Given the description of an element on the screen output the (x, y) to click on. 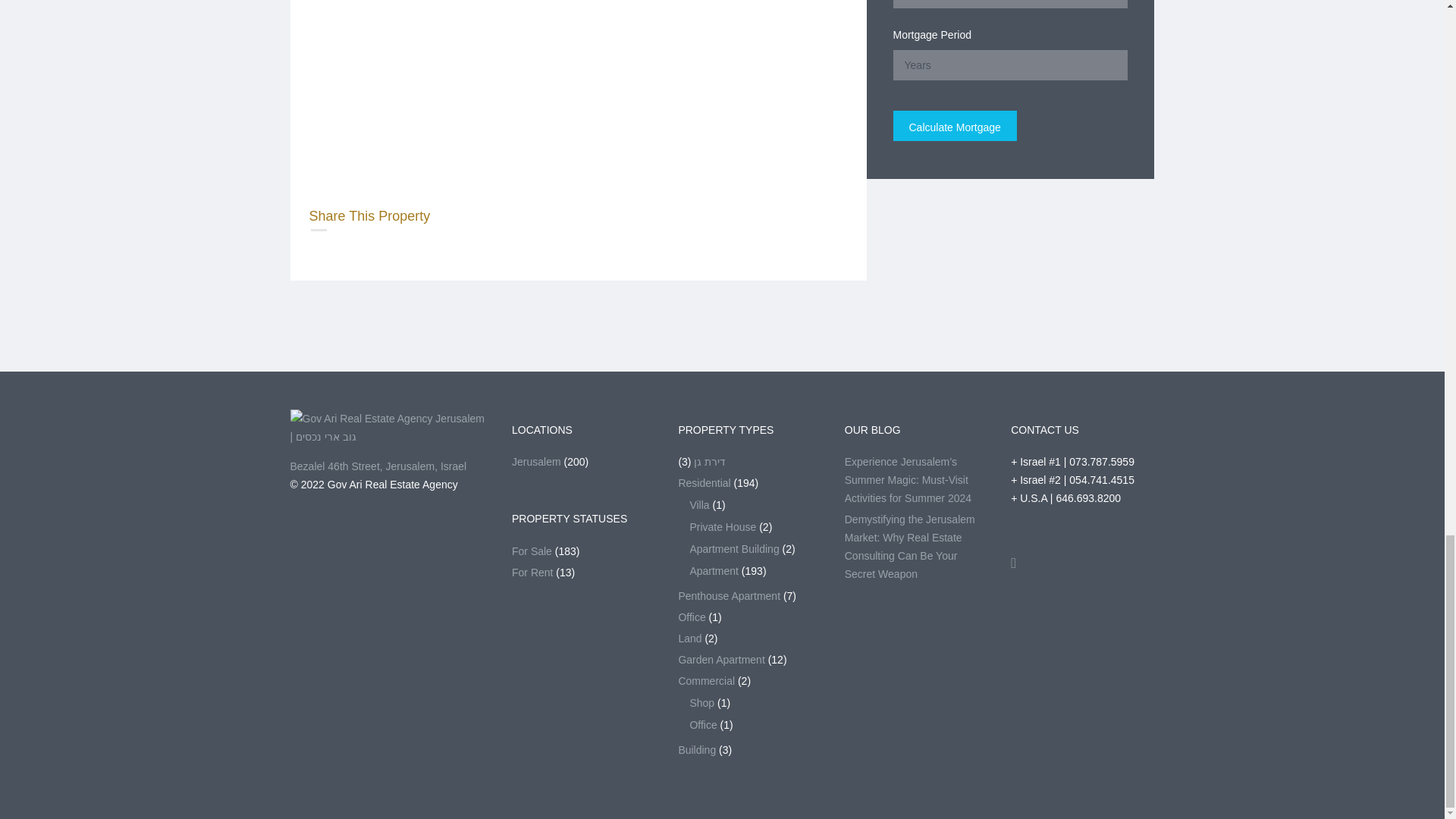
Calculate Mortgage (954, 125)
